Given the description of an element on the screen output the (x, y) to click on. 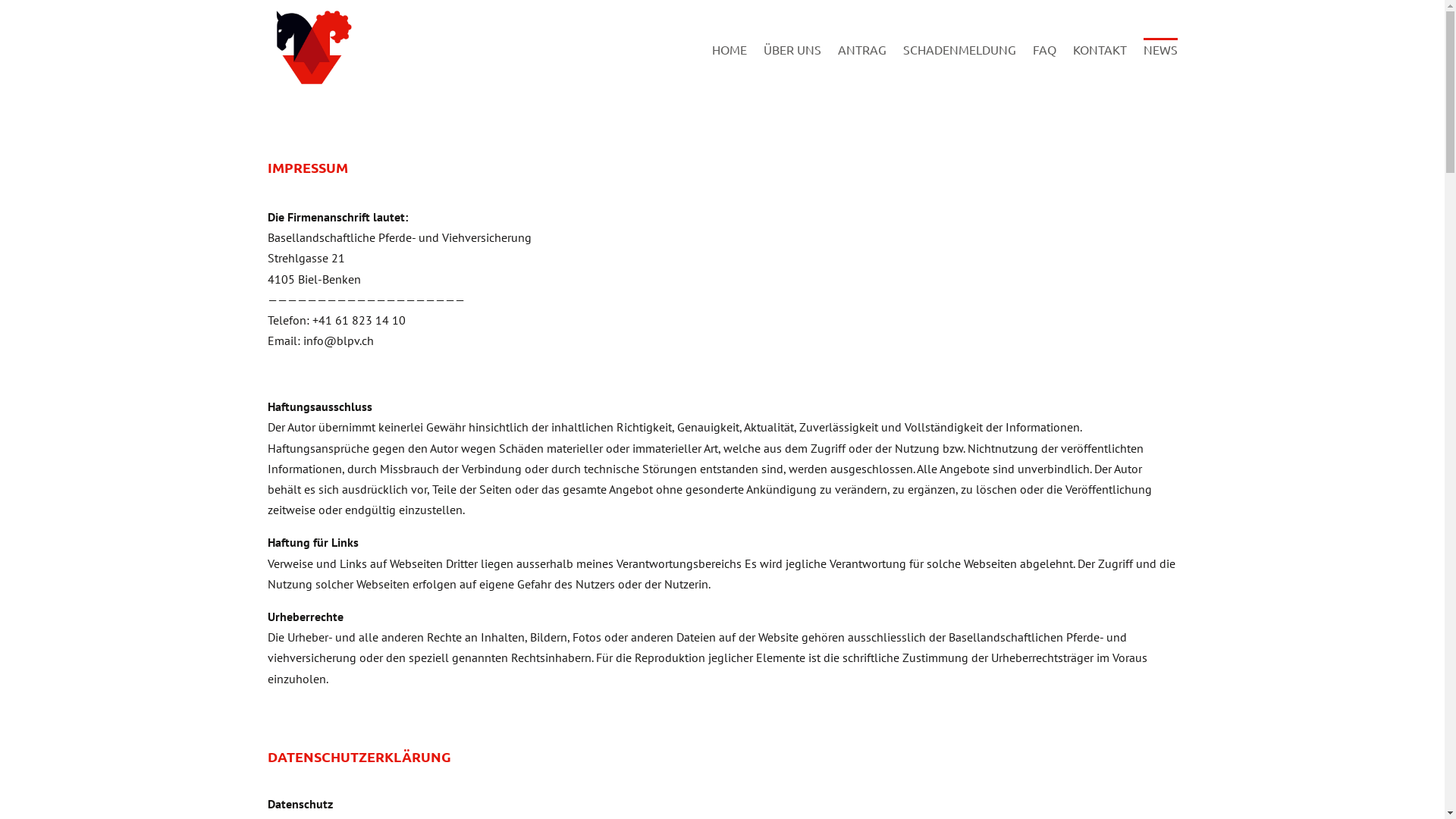
NEWS Element type: text (1160, 67)
FAQ Element type: text (1044, 67)
HOME Element type: text (728, 67)
SCHADENMELDUNG Element type: text (958, 67)
ANTRAG Element type: text (861, 67)
KONTAKT Element type: text (1099, 67)
